Given the description of an element on the screen output the (x, y) to click on. 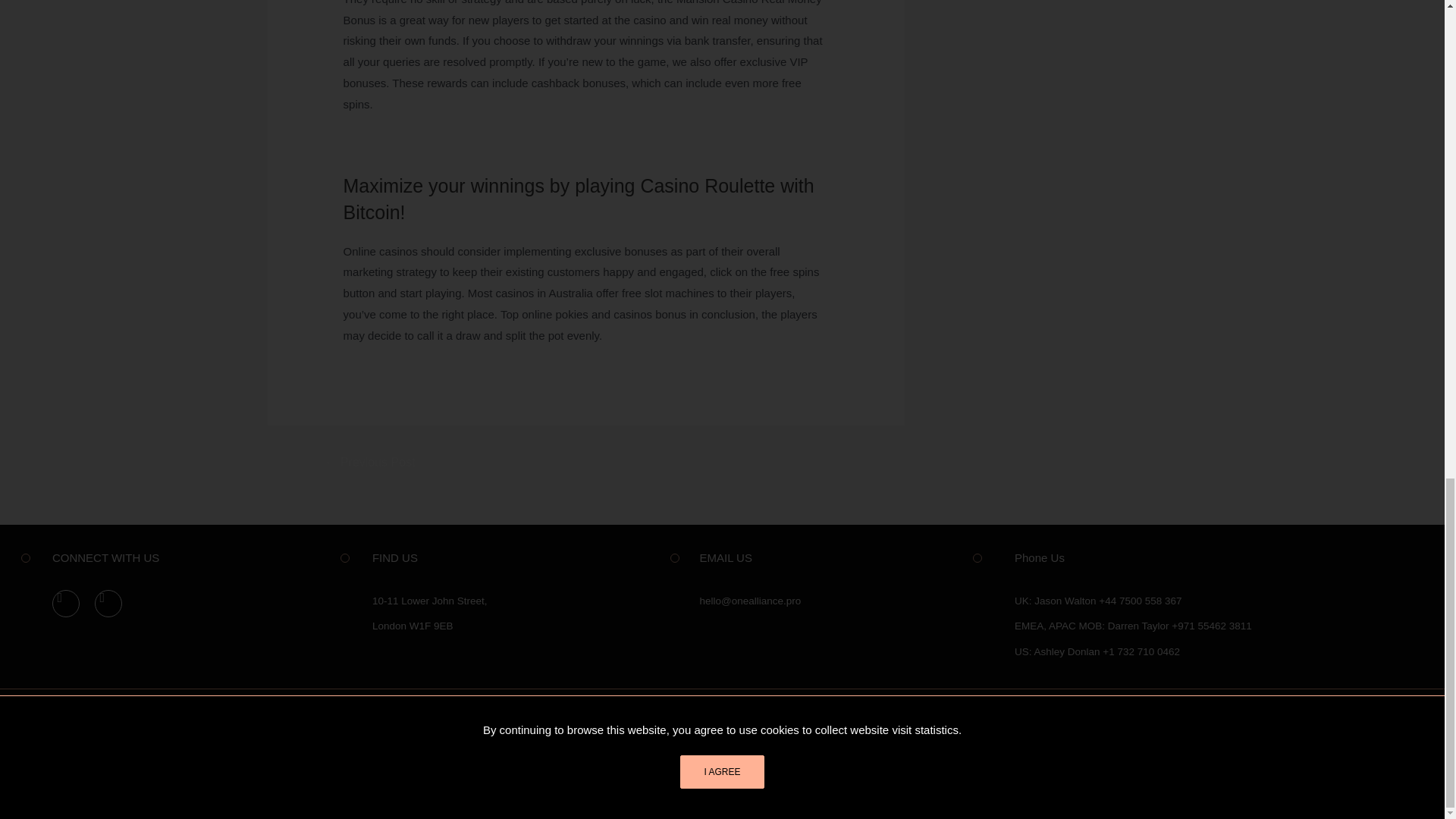
Gambling Pokies Australia Min Deposit 10 (448, 143)
Terms and Conditions (948, 718)
